Given the description of an element on the screen output the (x, y) to click on. 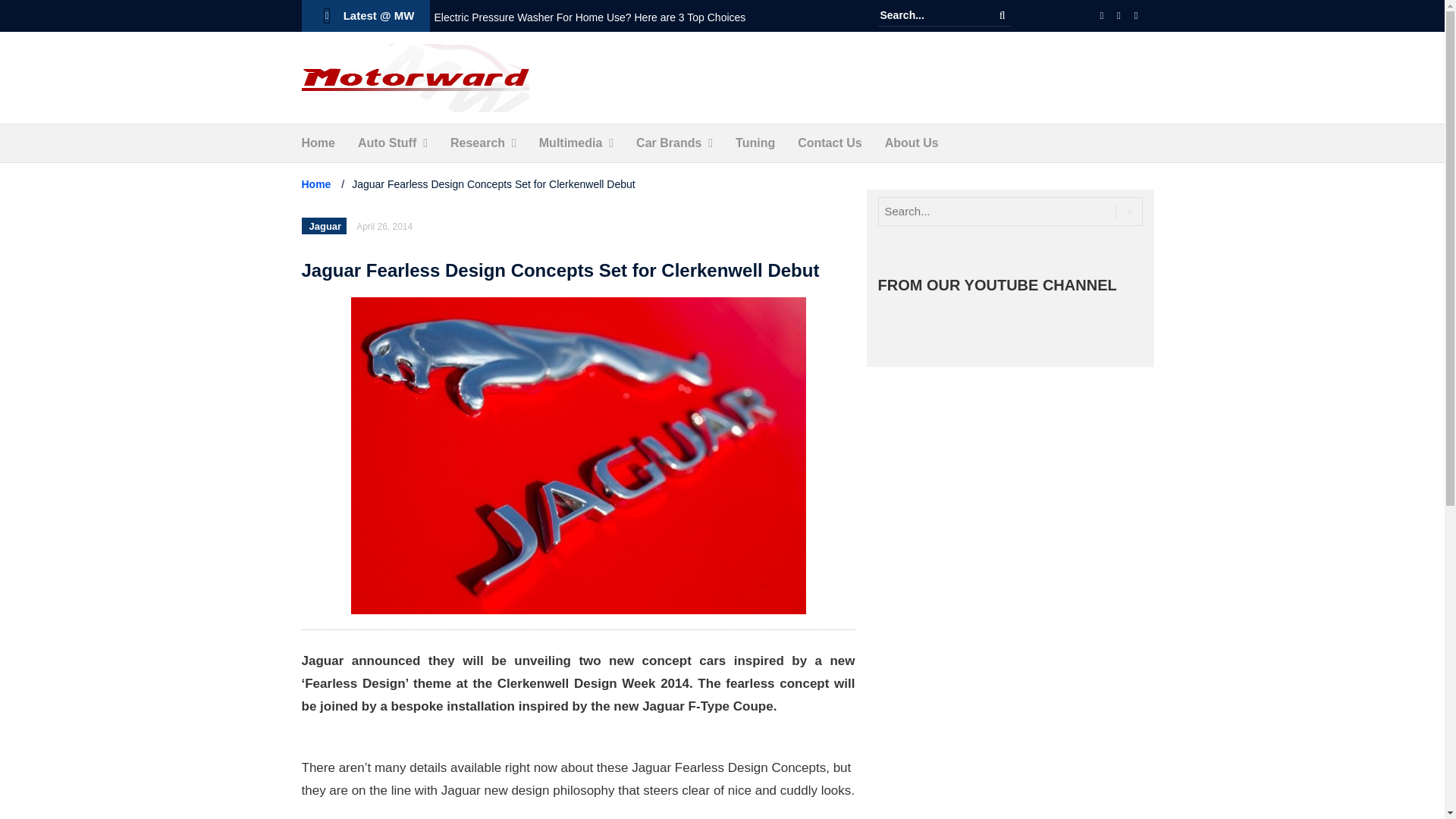
Research (477, 143)
Multimedia (570, 143)
Home (317, 143)
Auto Stuff (387, 143)
Search   (1002, 14)
Car Brands (668, 143)
